Given the description of an element on the screen output the (x, y) to click on. 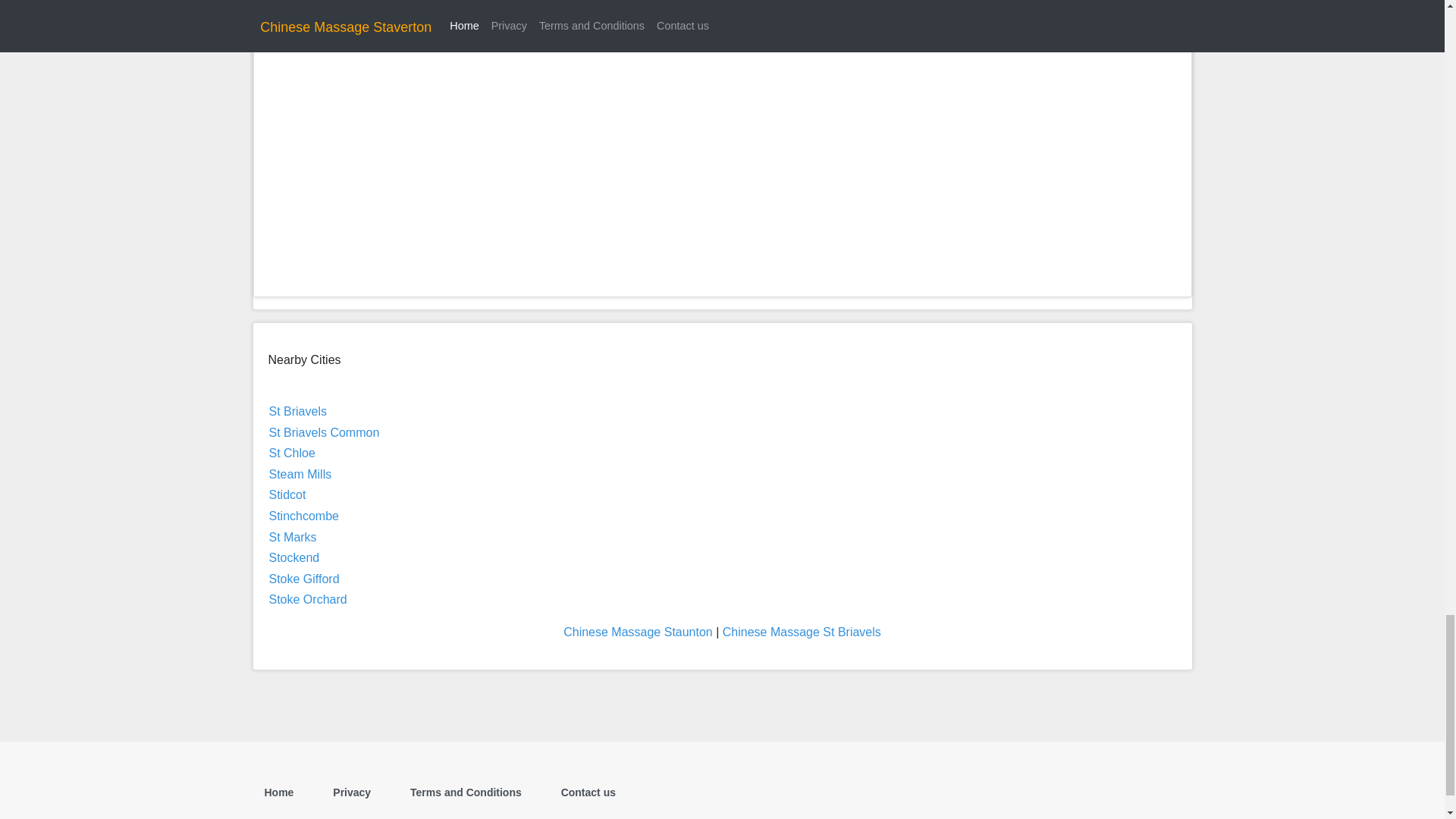
Stockend (292, 557)
Stidcot (286, 494)
Stinchcombe (303, 515)
Steam Mills (299, 473)
Chinese Massage St Briavels (801, 631)
Chinese Massage Staunton (638, 631)
St Briavels Common (322, 431)
Stoke Orchard (306, 599)
Stoke Gifford (303, 578)
St Marks (291, 536)
